Given the description of an element on the screen output the (x, y) to click on. 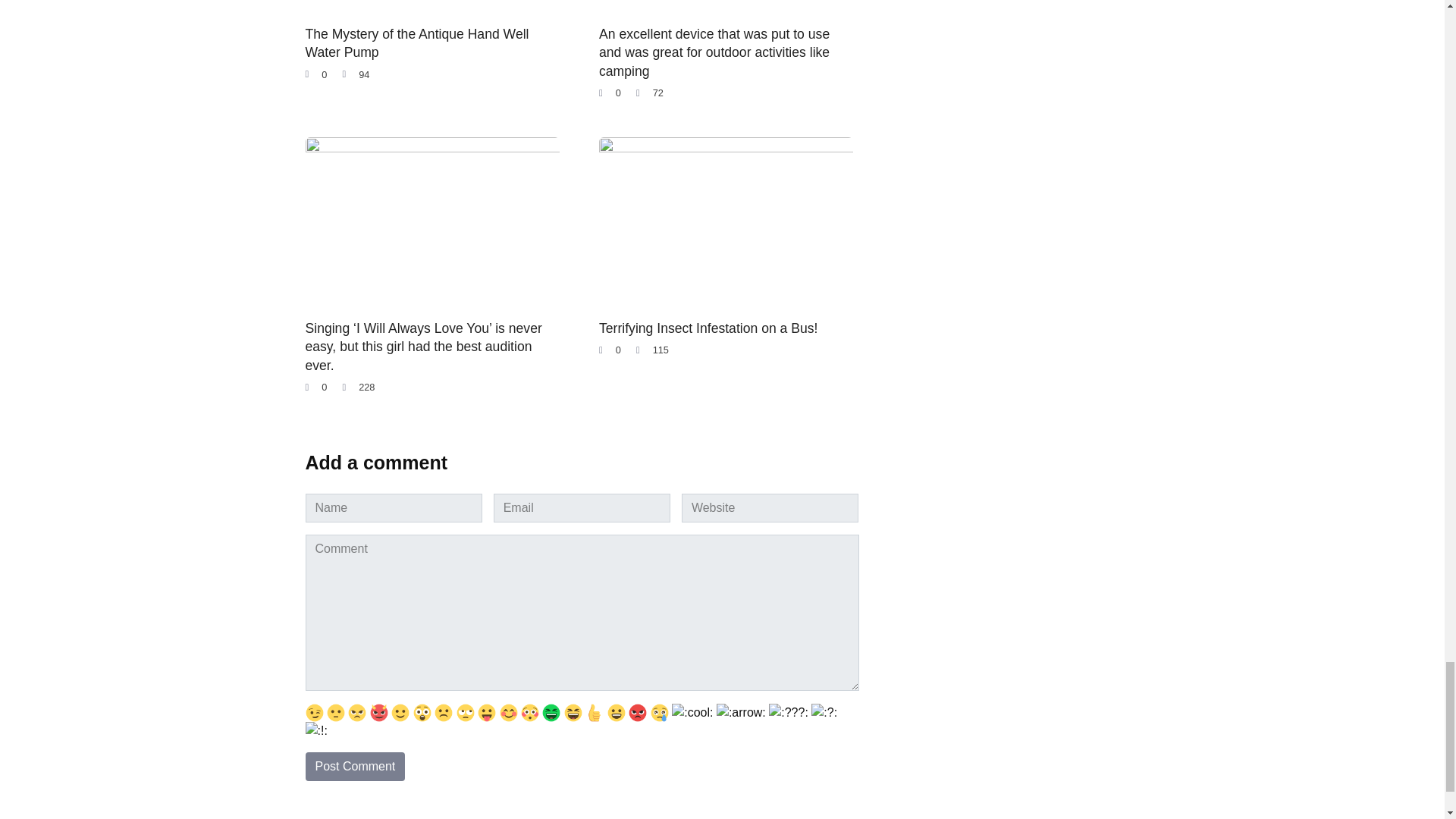
Post Comment (354, 766)
Terrifying Insect Infestation on a Bus! (708, 328)
Post Comment (354, 766)
The Mystery of the Antique Hand Well Water Pump (416, 42)
